Given the description of an element on the screen output the (x, y) to click on. 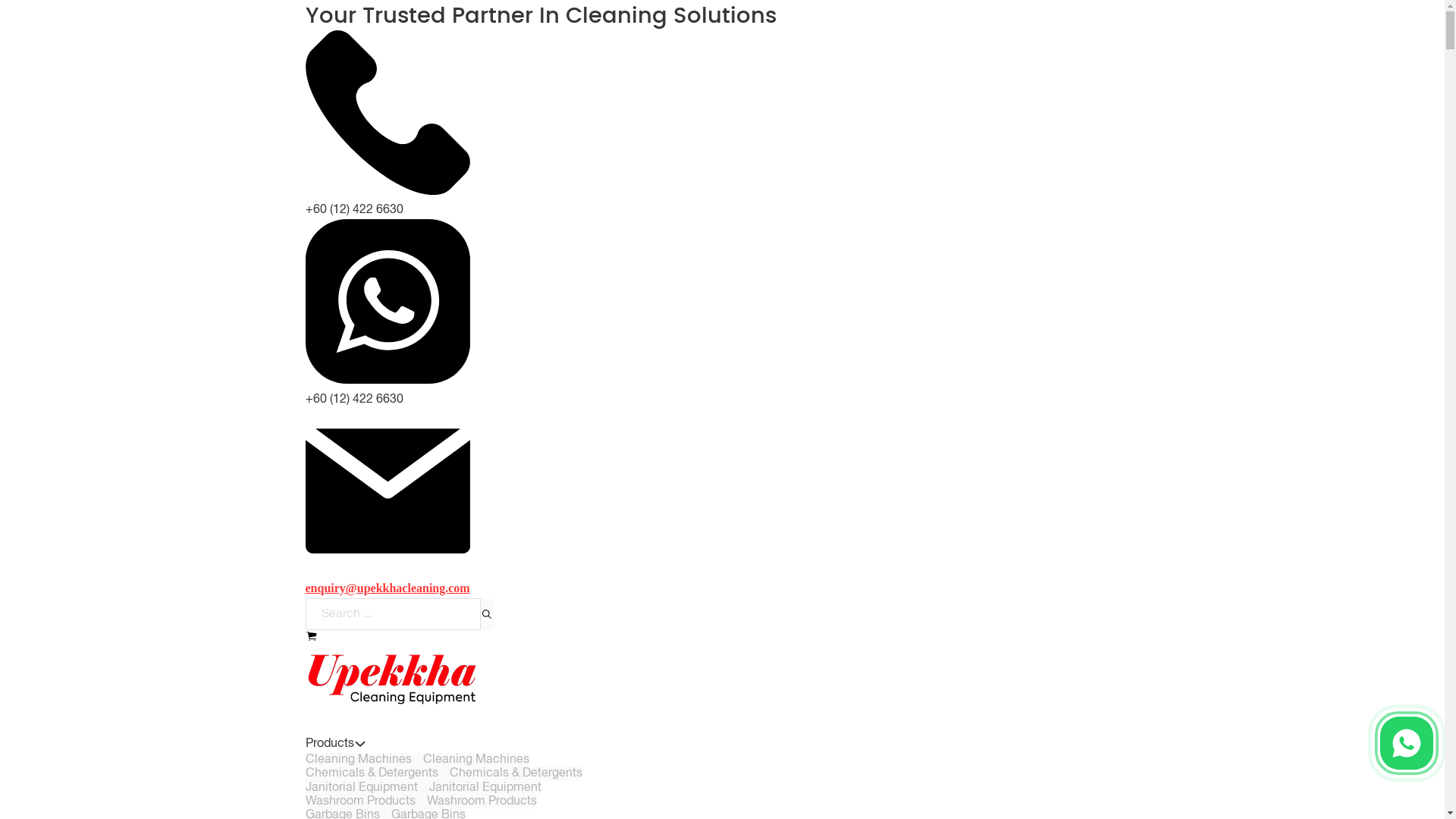
Products (384, 813)
Washroom Products (328, 743)
Janitorial Equipment (480, 801)
Garbage Bins (485, 787)
Cleaning Machines (422, 787)
